Given the description of an element on the screen output the (x, y) to click on. 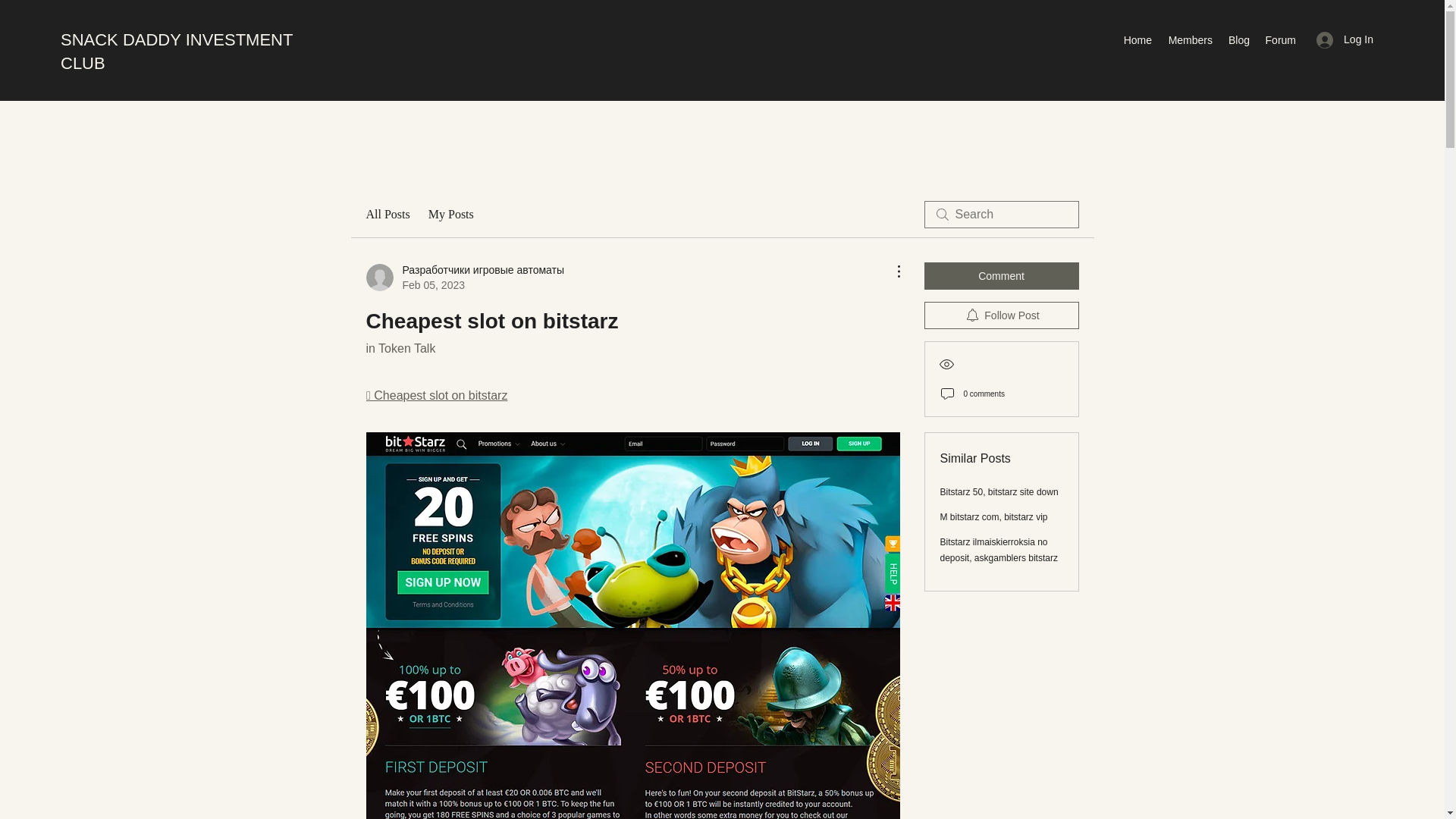
Comment (1000, 275)
Forum (1280, 39)
M bitstarz com, bitstarz vip (994, 516)
SNACK DADDY INVESTMENT CLUB (176, 51)
Bitstarz ilmaiskierroksia no deposit, askgamblers bitstarz (999, 550)
in Token Talk (400, 348)
Blog (1238, 39)
Bitstarz 50, bitstarz site down (999, 491)
Follow Post (1000, 315)
All Posts (387, 214)
Log In (1345, 39)
Home (1136, 39)
Members (1189, 39)
My Posts (451, 214)
